Given the description of an element on the screen output the (x, y) to click on. 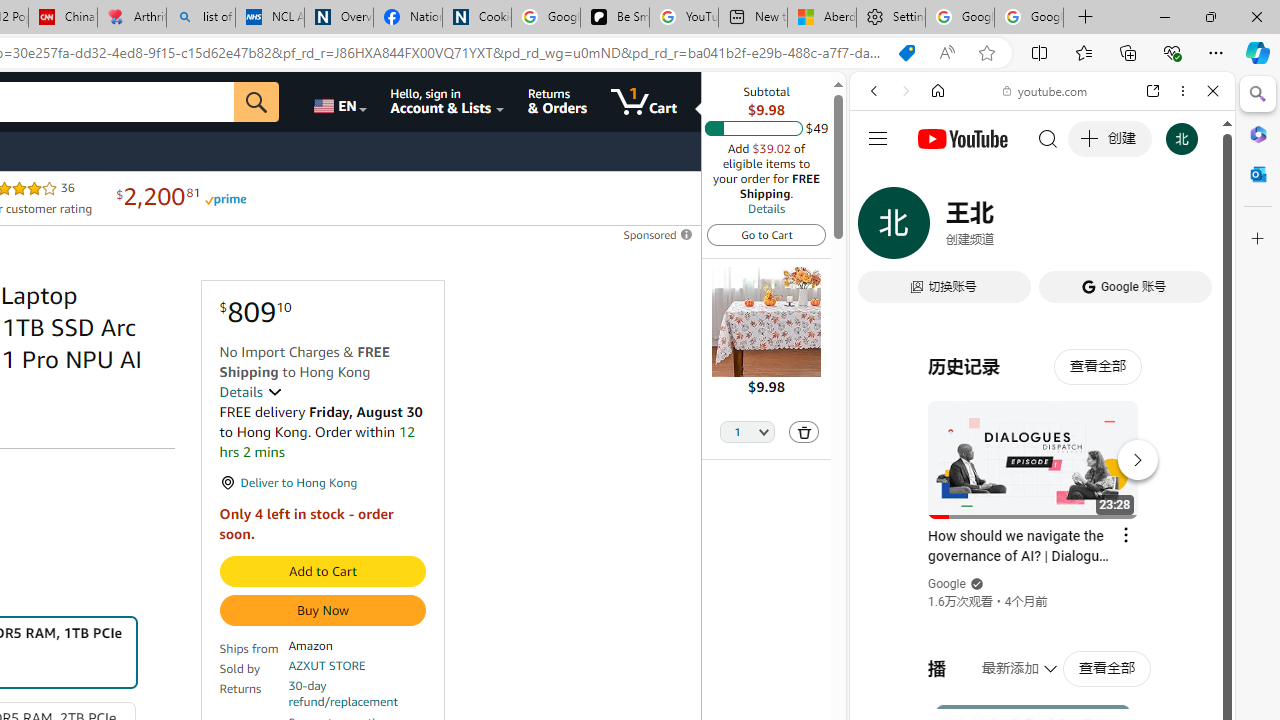
Go to Cart (766, 234)
Be Smart | creating Science videos | Patreon (614, 17)
Delete (803, 431)
Go (257, 101)
Hello, sign in Account & Lists (447, 101)
